Given the description of an element on the screen output the (x, y) to click on. 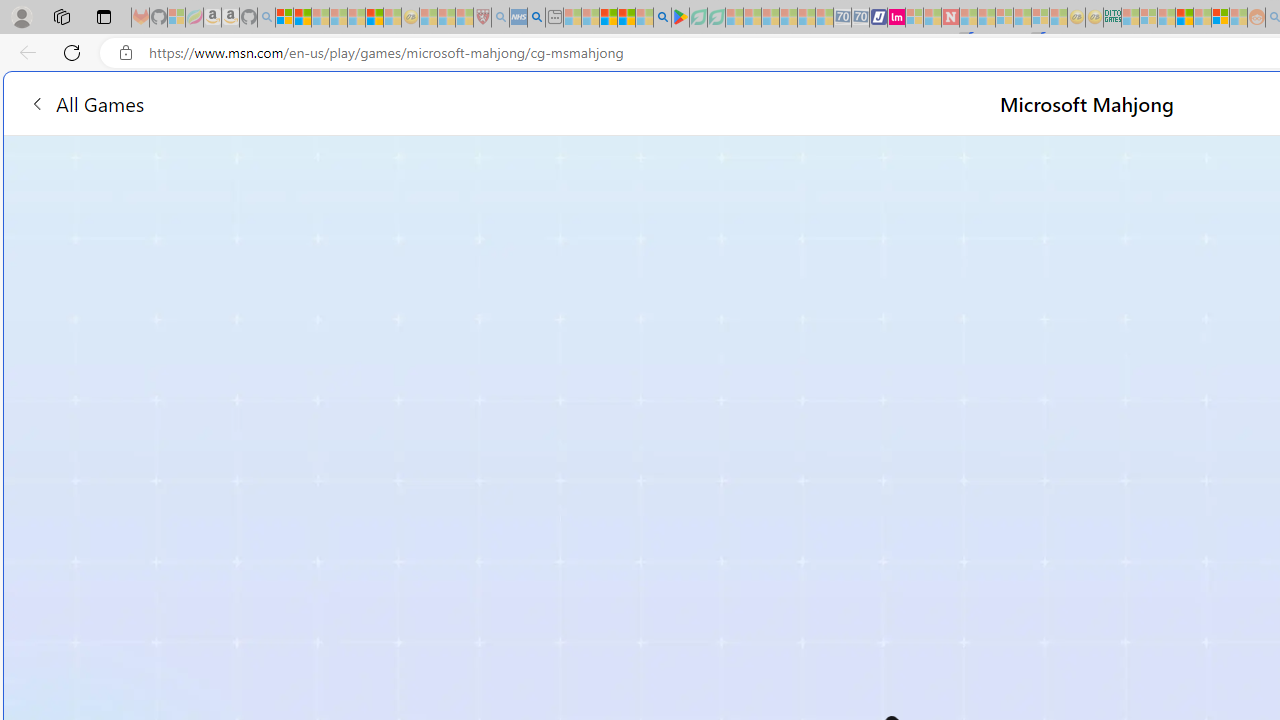
Jobs - lastminute.com Investor Portal (896, 17)
